Given the description of an element on the screen output the (x, y) to click on. 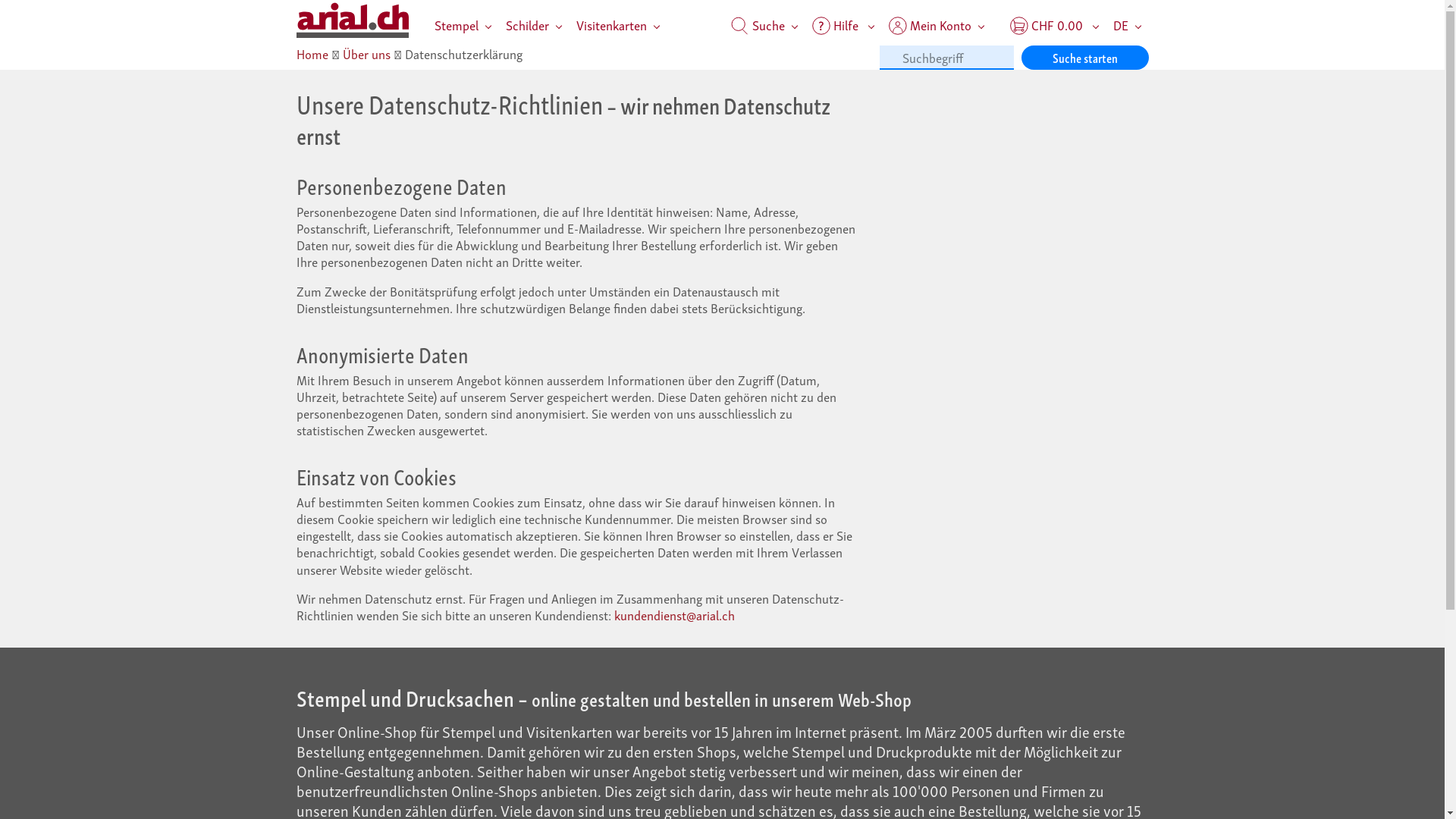
Stempel Element type: text (462, 24)
kundendienst@arial.ch Element type: text (674, 614)
Mein Konto Element type: text (941, 24)
Suche Element type: text (763, 24)
Suche starten Element type: text (1084, 57)
Visitenkarten Element type: text (617, 24)
DE Element type: text (1126, 24)
Schilder Element type: text (533, 24)
Home Element type: text (311, 53)
Hilfe Element type: text (842, 24)
CHF 0.00 Element type: text (1053, 24)
